Given the description of an element on the screen output the (x, y) to click on. 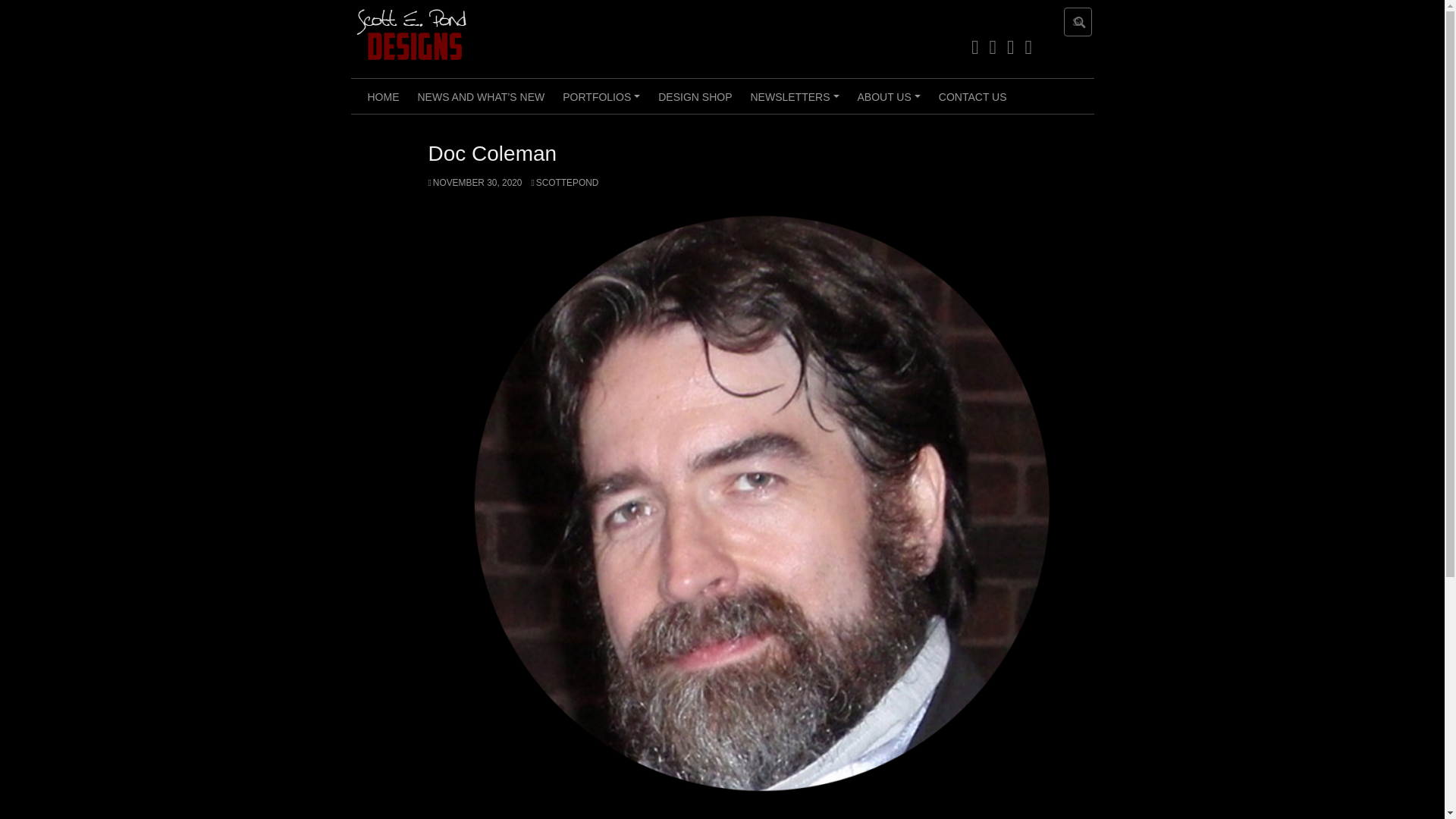
CONTACT US (973, 95)
NOVEMBER 30, 2020 (474, 182)
SCOTTEPOND (564, 182)
DESIGN SHOP (695, 95)
HOME (382, 95)
Search for: (1078, 21)
